Given the description of an element on the screen output the (x, y) to click on. 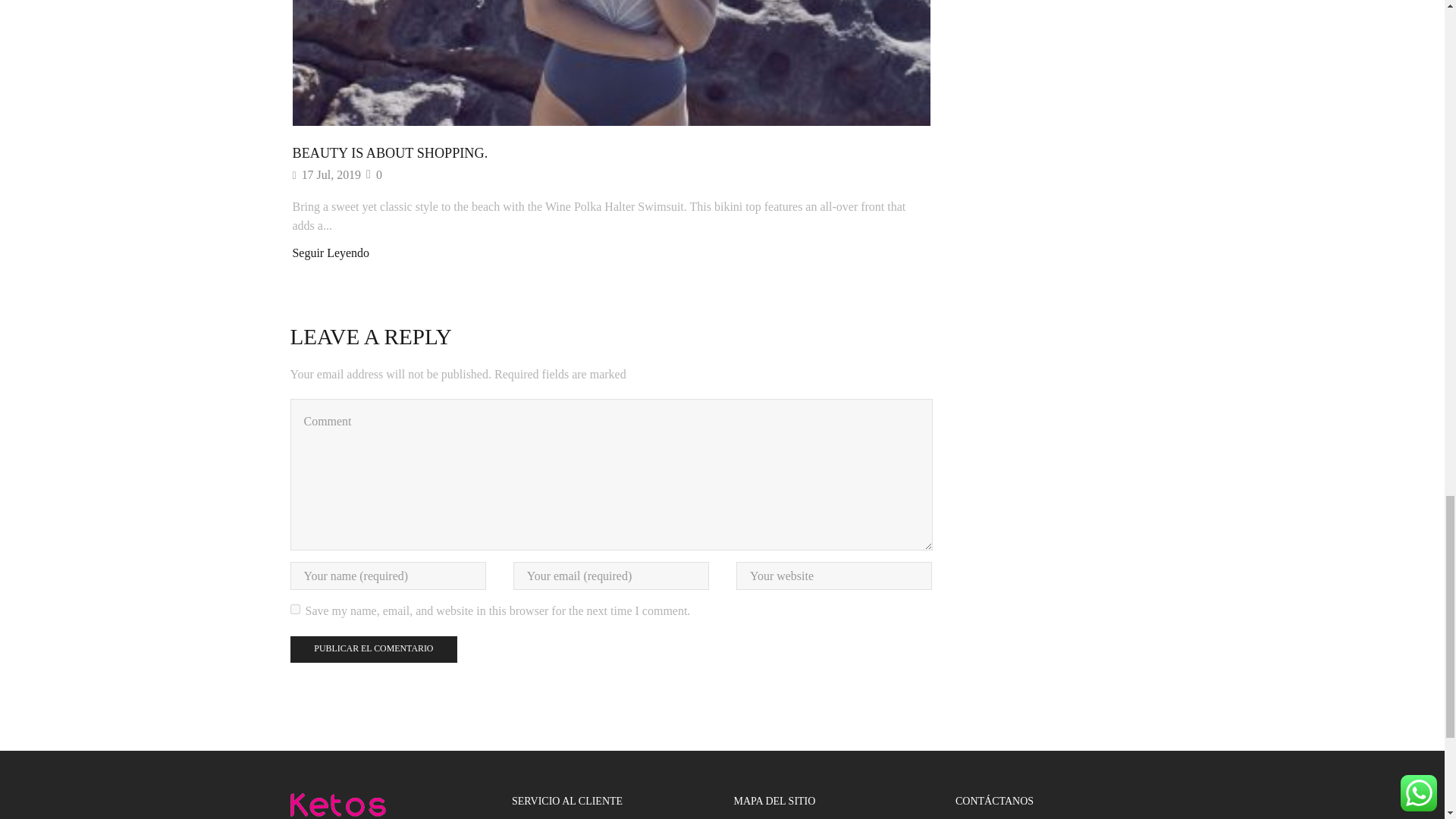
18-Blog-Detail-Page (611, 63)
yes (294, 609)
Publicar el comentario (373, 649)
